Given the description of an element on the screen output the (x, y) to click on. 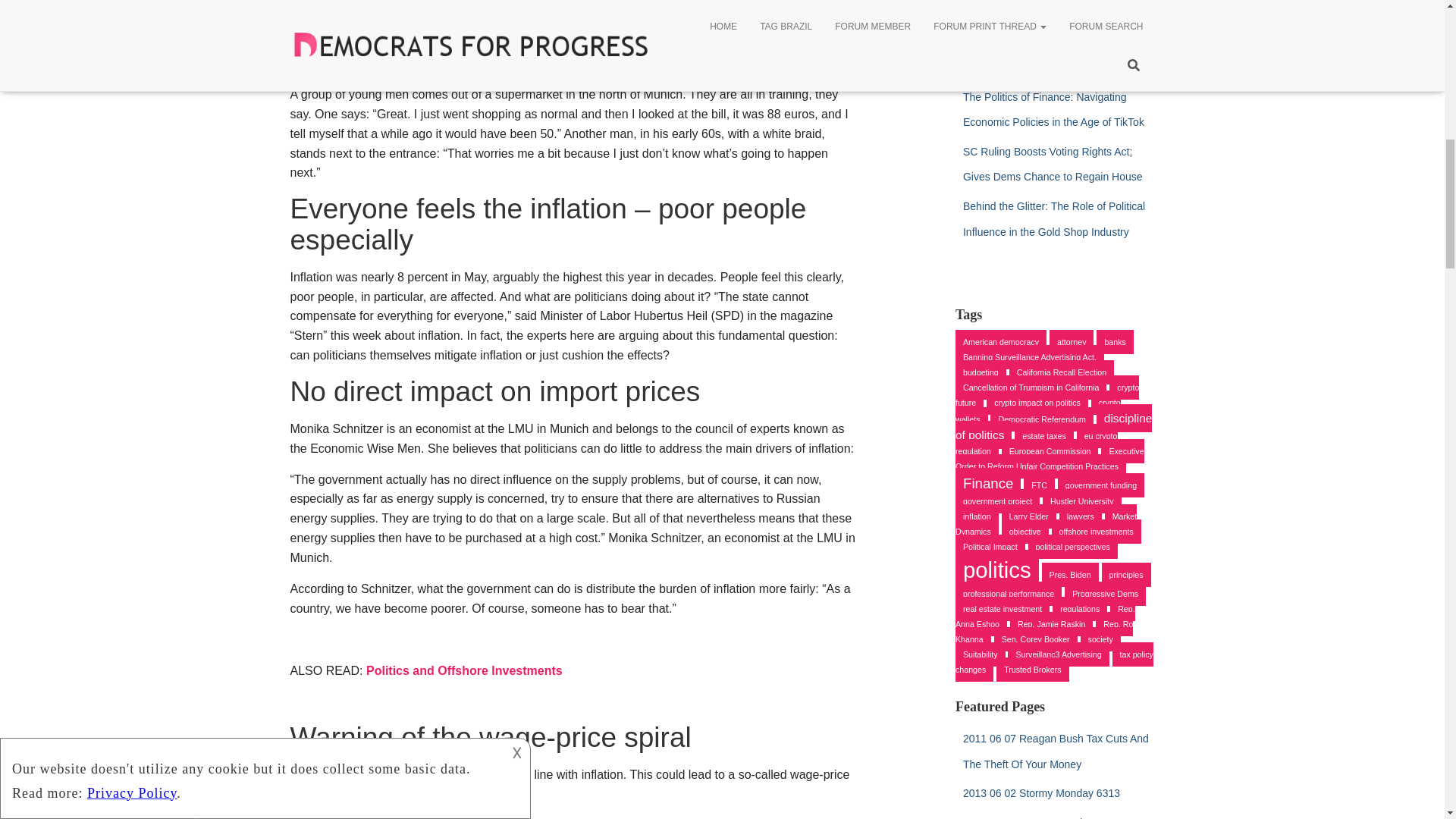
American democracy (1000, 341)
Politics and Offshore Investments (464, 670)
attorney (1071, 341)
